Given the description of an element on the screen output the (x, y) to click on. 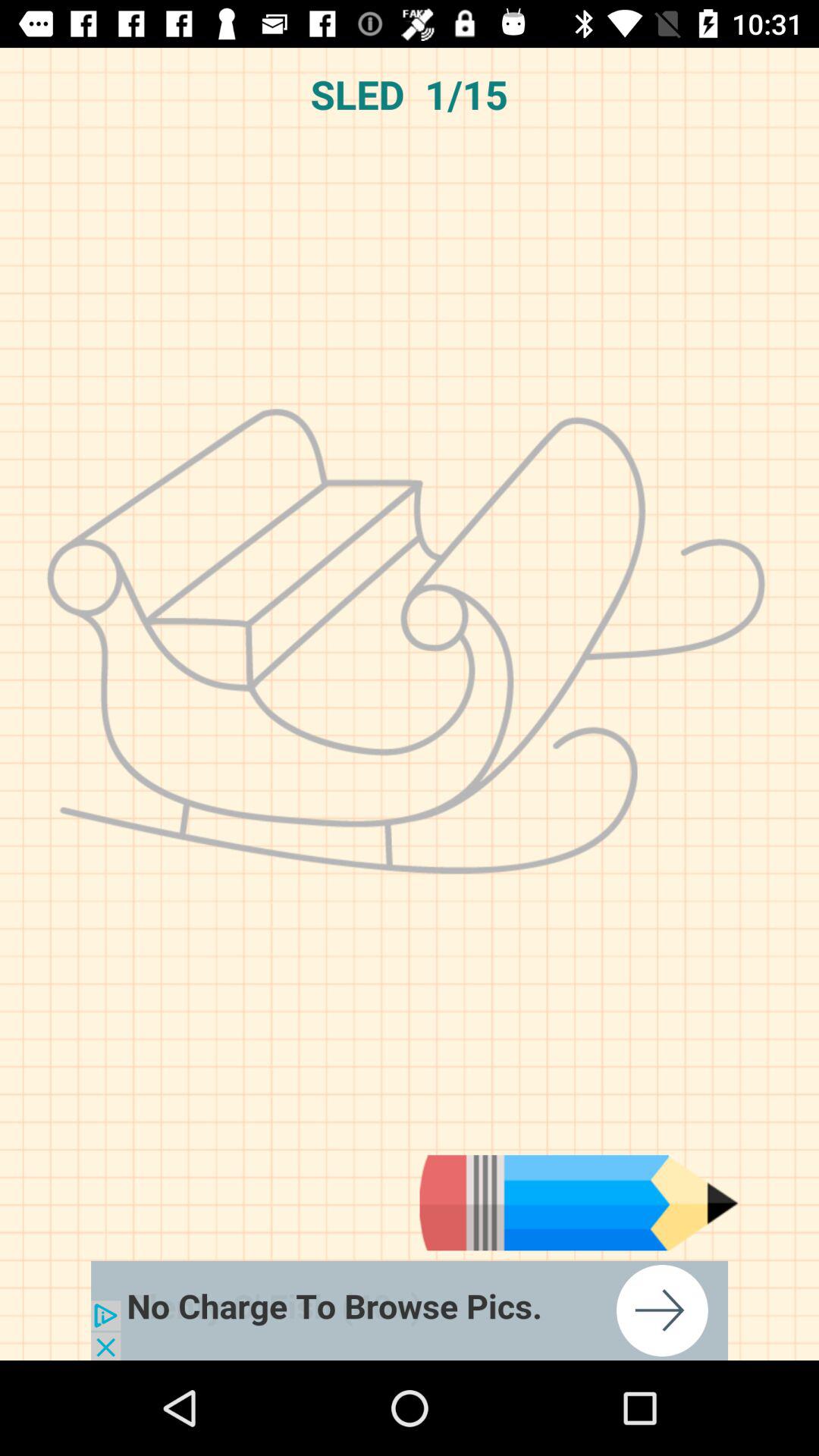
use pencil to draw (578, 1202)
